Given the description of an element on the screen output the (x, y) to click on. 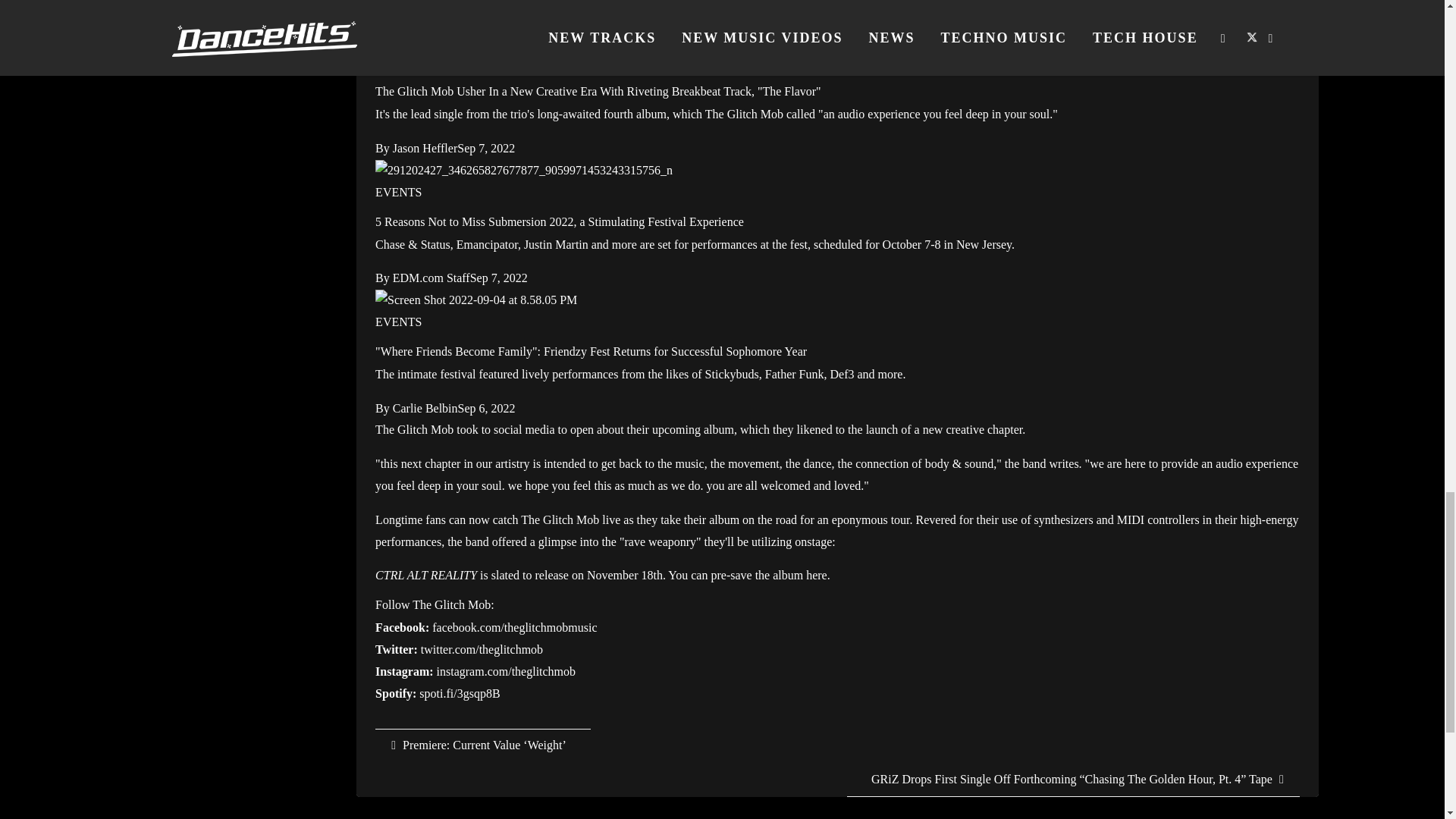
Sep 7, 2022 (498, 277)
Sep 7, 2022 (486, 147)
Sep 6, 2022 (486, 408)
